Given the description of an element on the screen output the (x, y) to click on. 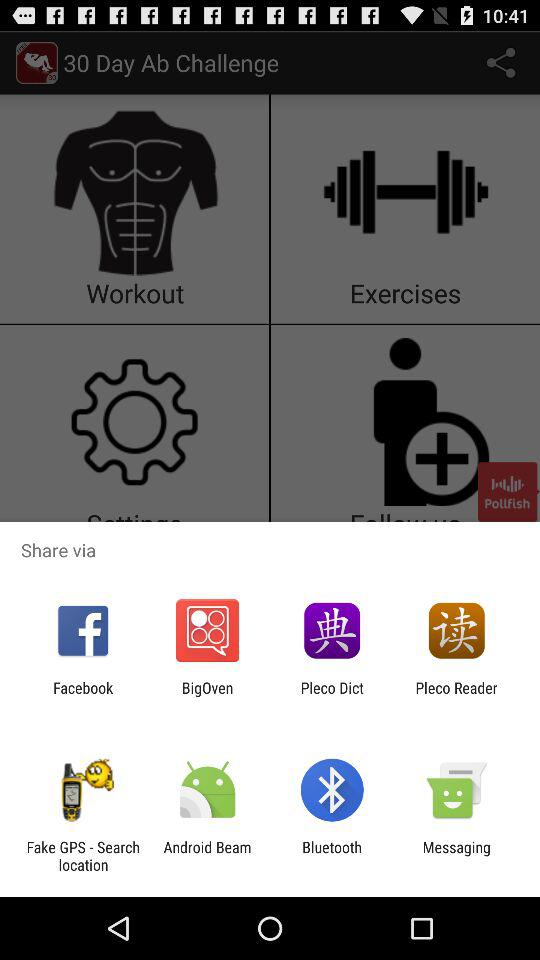
turn off pleco reader icon (456, 696)
